Given the description of an element on the screen output the (x, y) to click on. 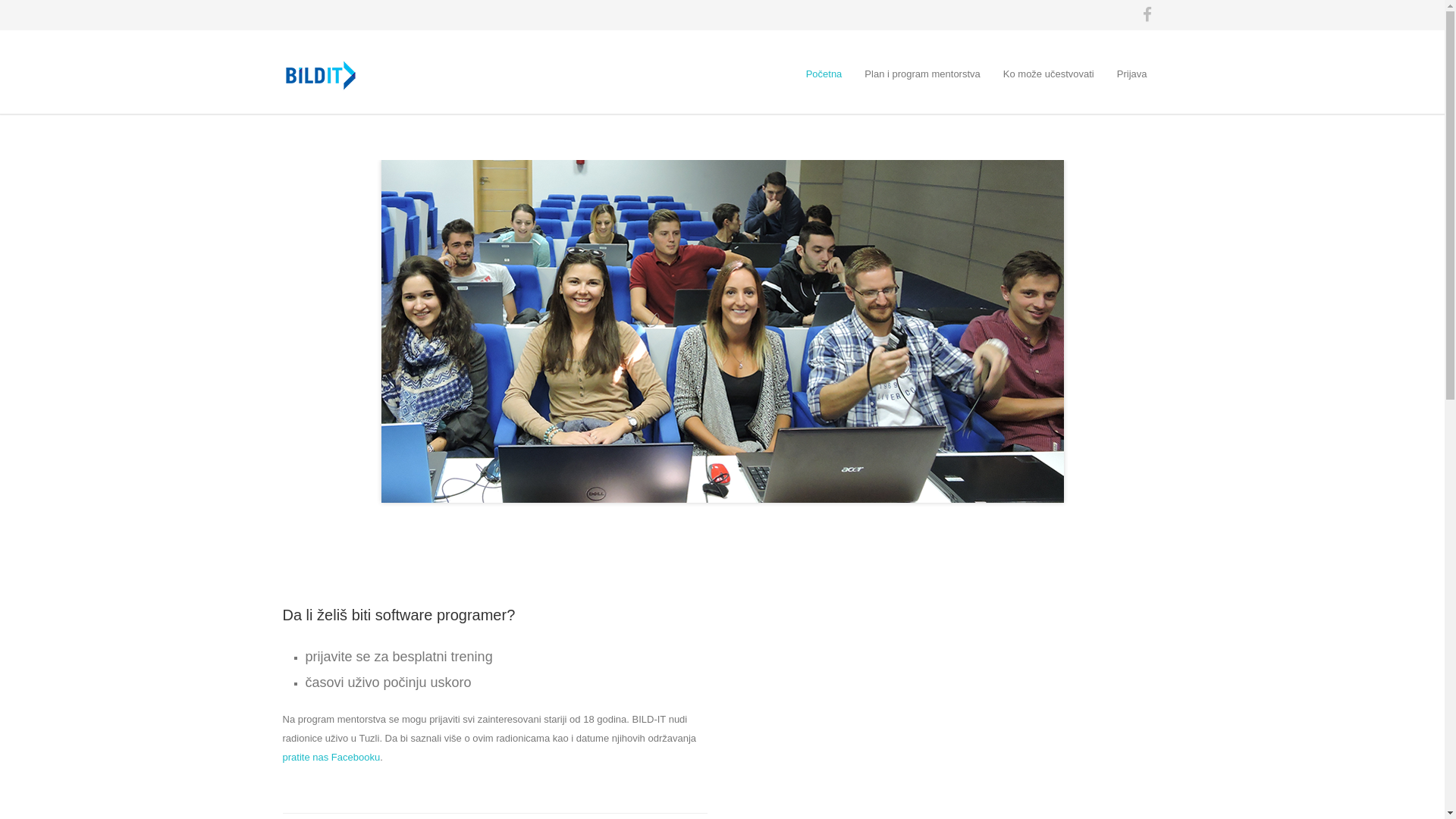
Prijava Element type: text (1131, 73)
Facebook Element type: hover (1146, 15)
Plan i program mentorstva Element type: text (922, 73)
pratite nas Facebooku Element type: text (330, 756)
